Given the description of an element on the screen output the (x, y) to click on. 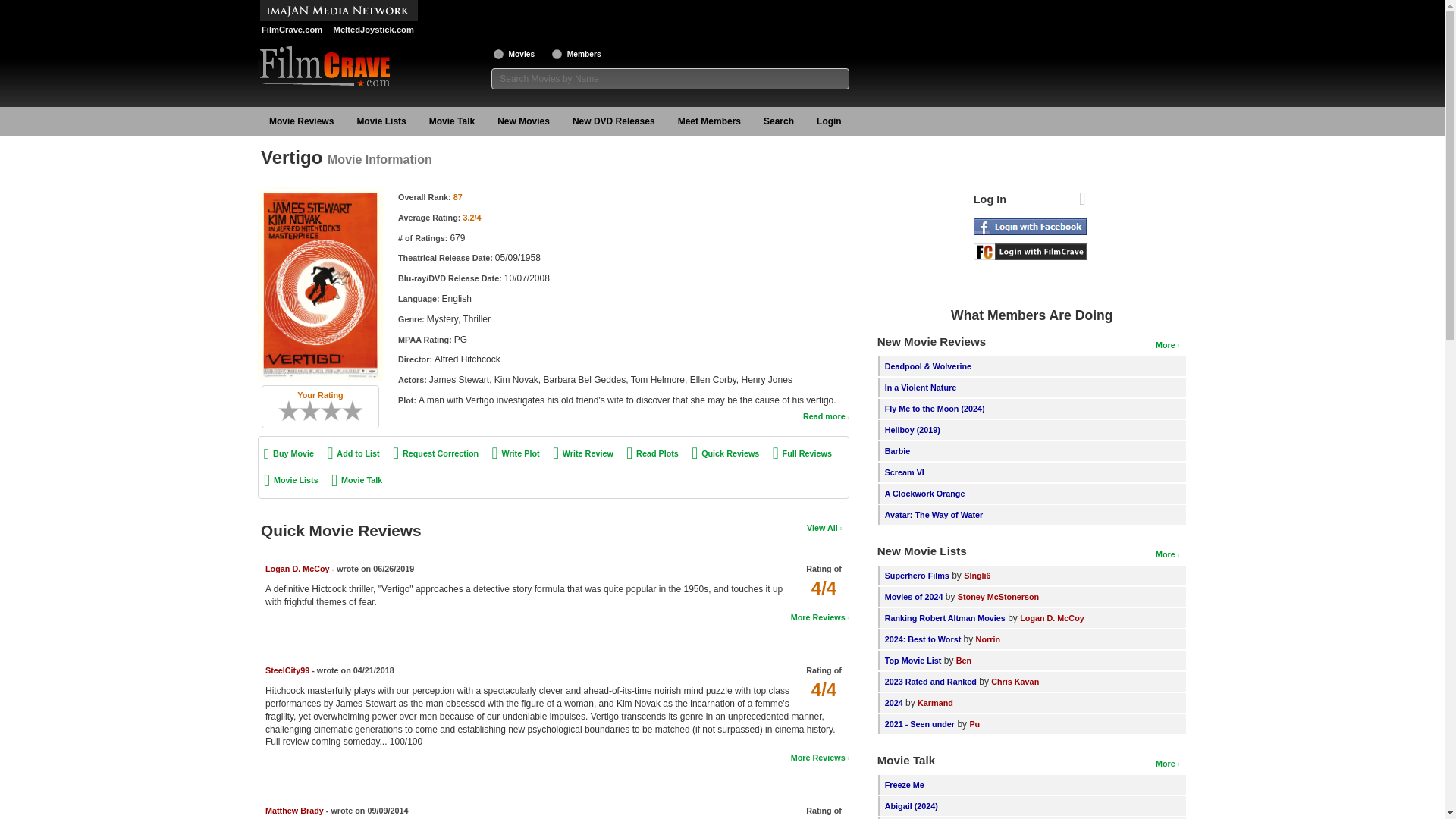
Search (778, 121)
View all quick reviews for Vertigo (823, 527)
New Movies (523, 121)
Movie Lists (380, 121)
Movie Talk (451, 121)
FilmCrave Movie Social Network (291, 29)
MeltedJoystick.com (371, 29)
Movie Reviews (301, 121)
4 out of 4 stars (822, 588)
Read more reviews from Logan D. McCoy (819, 616)
Meet Members (709, 121)
New DVD Releases (613, 121)
Buy Vertigo on Blu-ray (288, 452)
4 out of 4 stars (822, 689)
Read more reviews from SteelCity99 (819, 757)
